Given the description of an element on the screen output the (x, y) to click on. 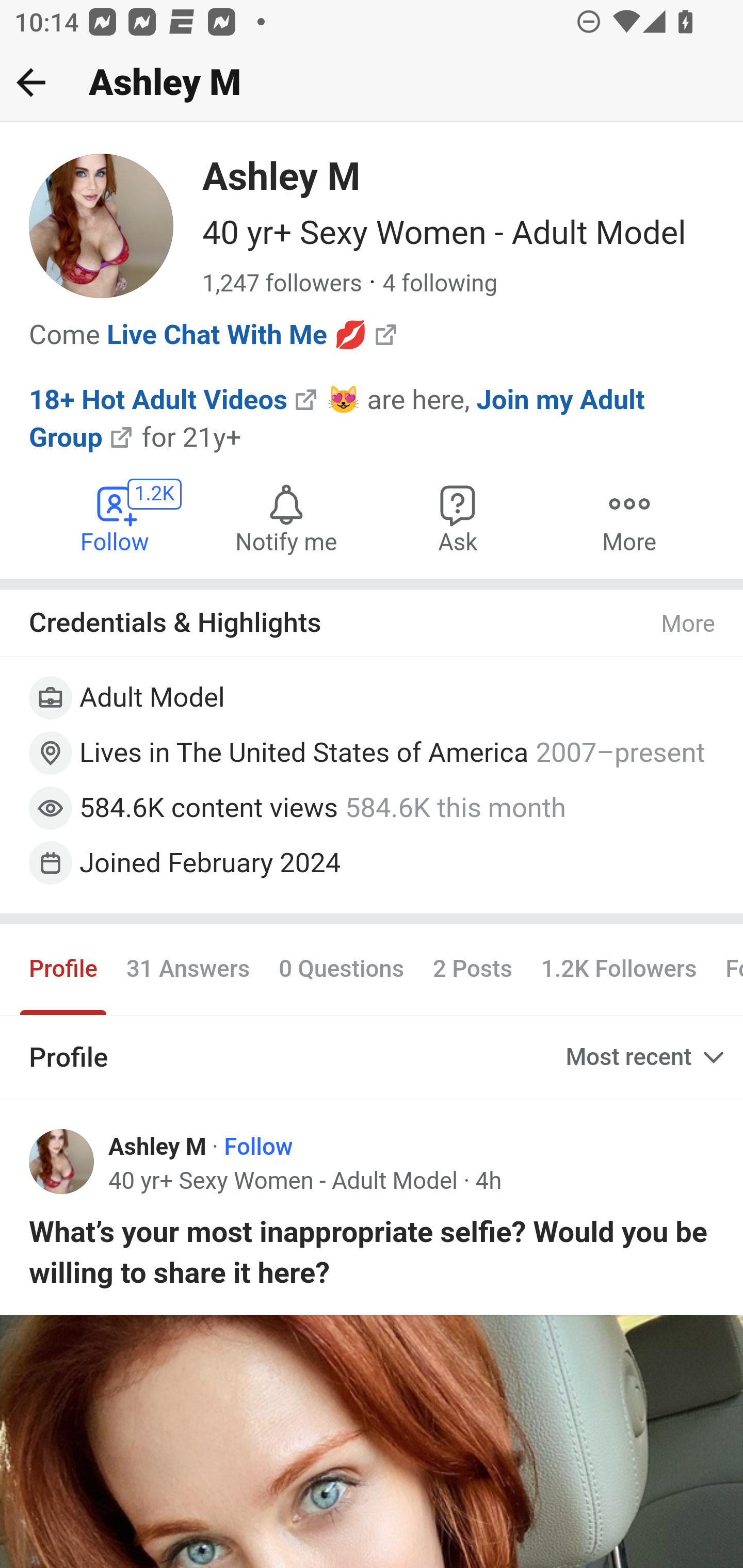
Me Home Search Add (371, 82)
Back (30, 82)
1,247 followers (282, 284)
4 following (439, 284)
Live Chat With Me 💋 (237, 333)
18+ Hot Adult Videos (158, 398)
Join my Adult Group (337, 417)
Follow Ashley M 1.2K Follow (115, 517)
Notify me (285, 517)
Ask (458, 517)
More (628, 517)
More (688, 623)
Profile (63, 970)
31 Answers (187, 970)
0 Questions (341, 970)
2 Posts (471, 970)
1.2K Followers (619, 970)
Most recent (647, 1057)
Profile photo for Ashley M (61, 1160)
Ashley M (157, 1147)
Follow (258, 1147)
4h 4 h (488, 1180)
